Given the description of an element on the screen output the (x, y) to click on. 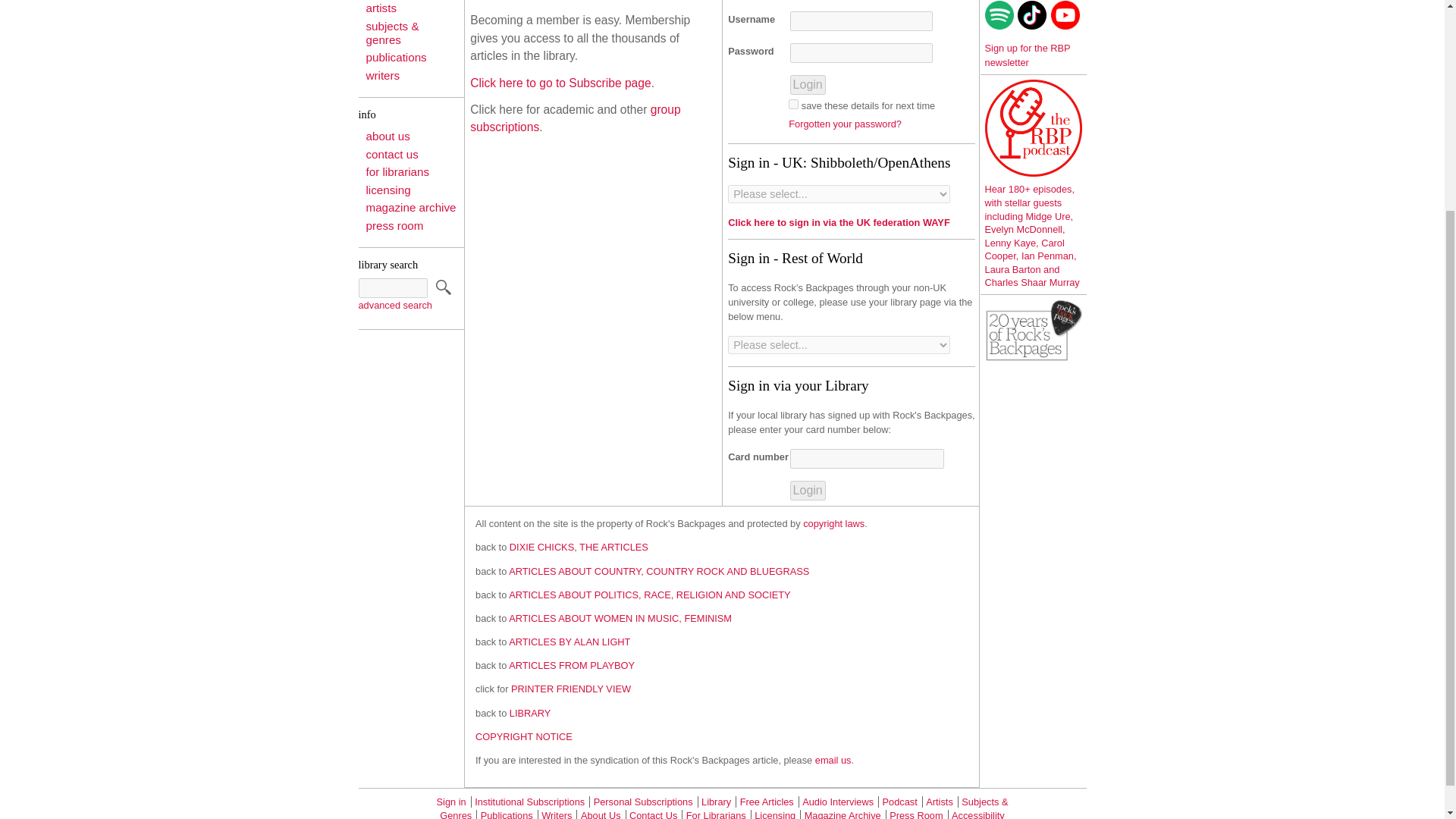
true (793, 103)
Login (807, 490)
Login (807, 85)
